Given the description of an element on the screen output the (x, y) to click on. 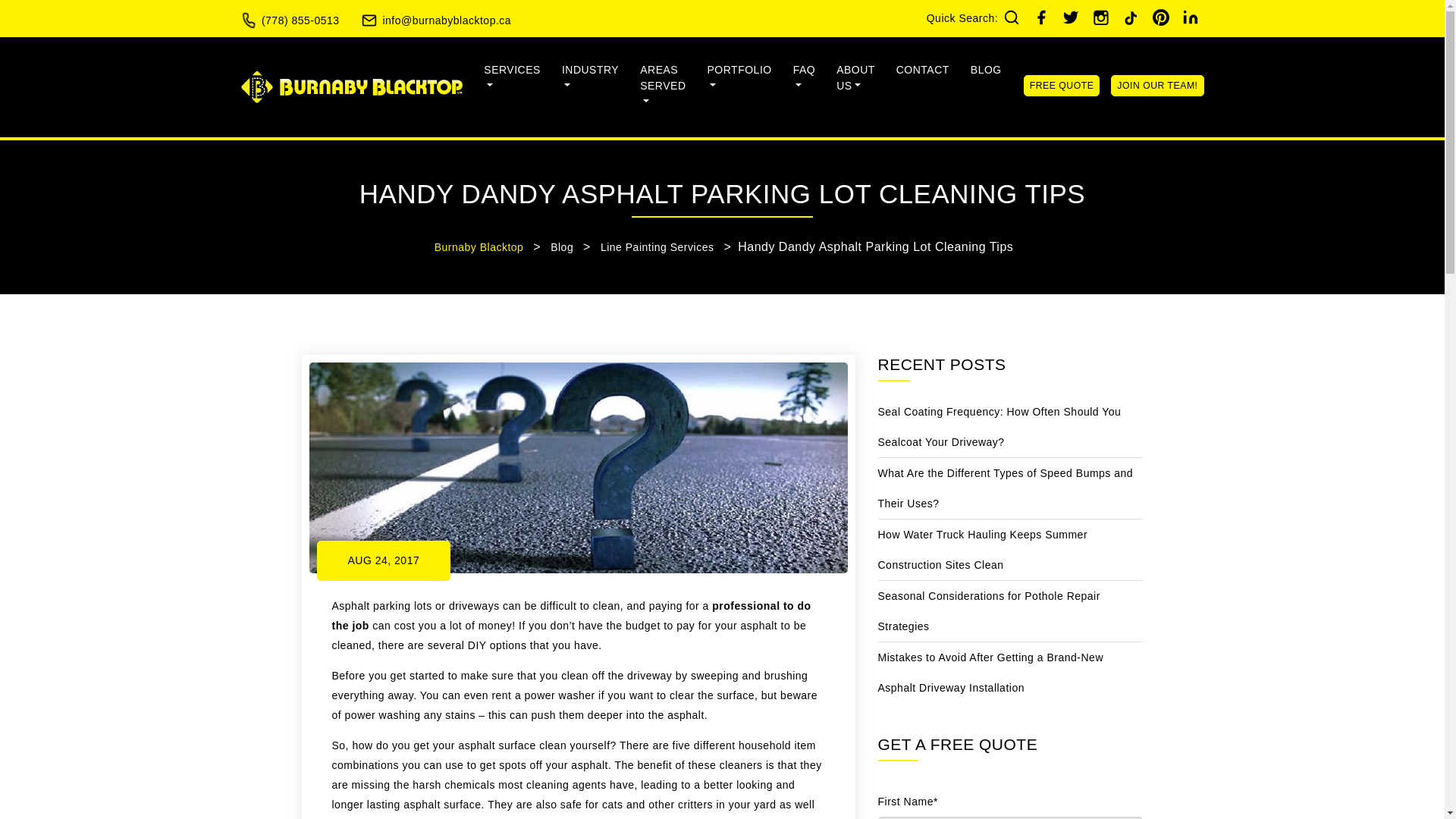
INDUSTRY (590, 78)
AREAS SERVED (662, 86)
SERVICES (512, 77)
Services (512, 77)
